Given the description of an element on the screen output the (x, y) to click on. 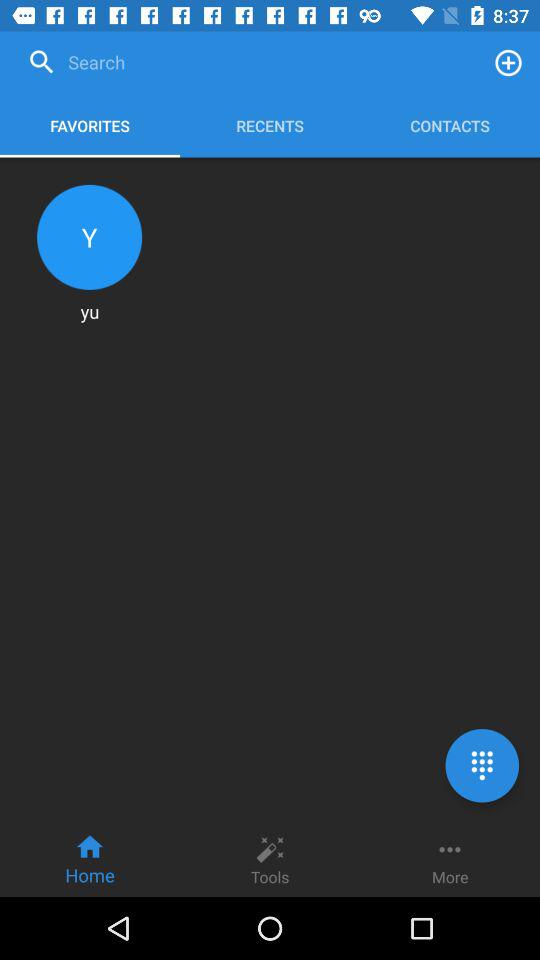
add a archive (508, 62)
